Given the description of an element on the screen output the (x, y) to click on. 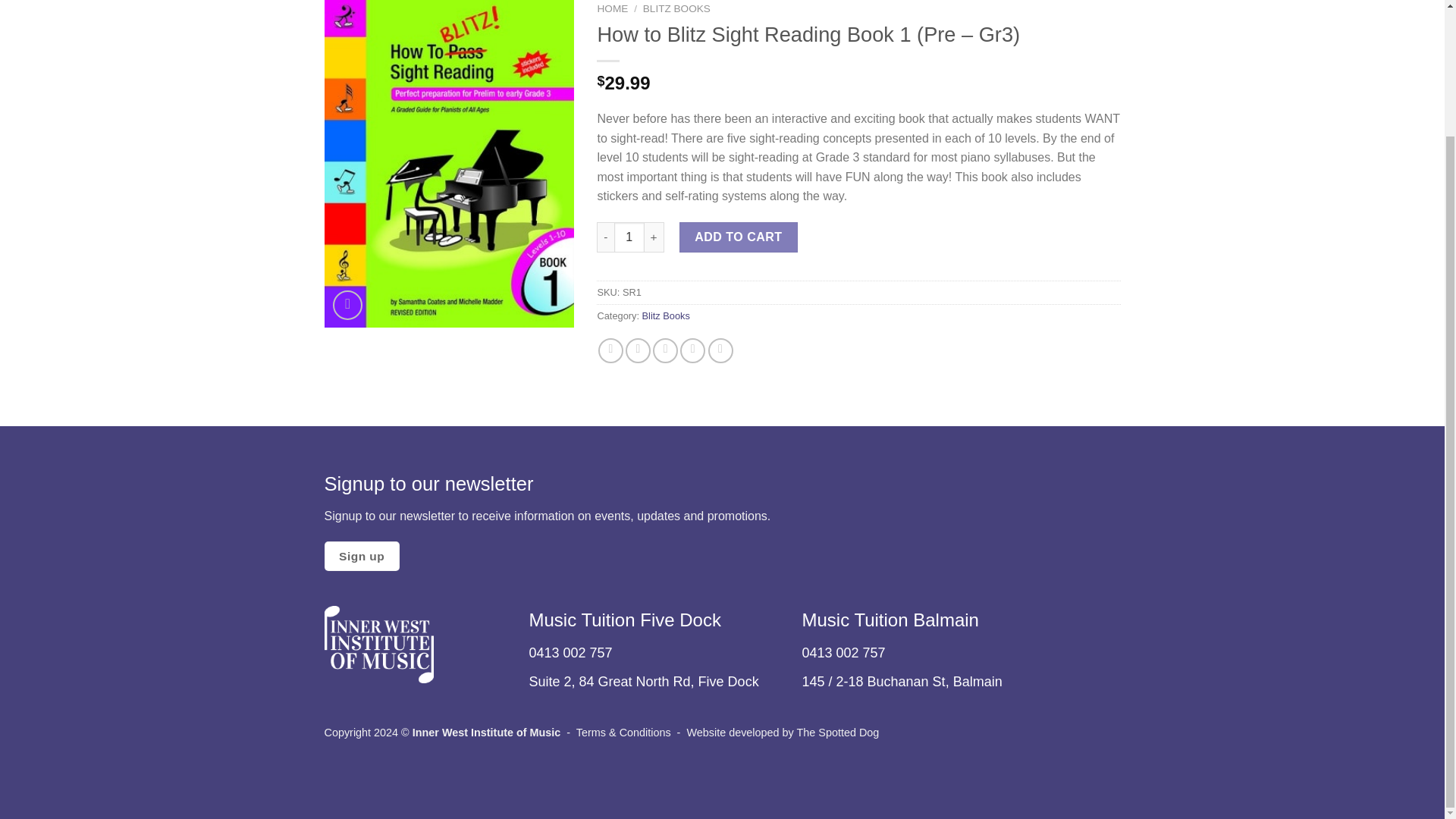
BLITZ BOOKS (676, 8)
Share on Twitter (638, 350)
1 (629, 236)
Email to a Friend (665, 350)
Pin on Pinterest (691, 350)
Share on LinkedIn (720, 350)
HOME (611, 8)
Zoom (347, 305)
ADD TO CART (738, 236)
Share on Facebook (610, 350)
